Given the description of an element on the screen output the (x, y) to click on. 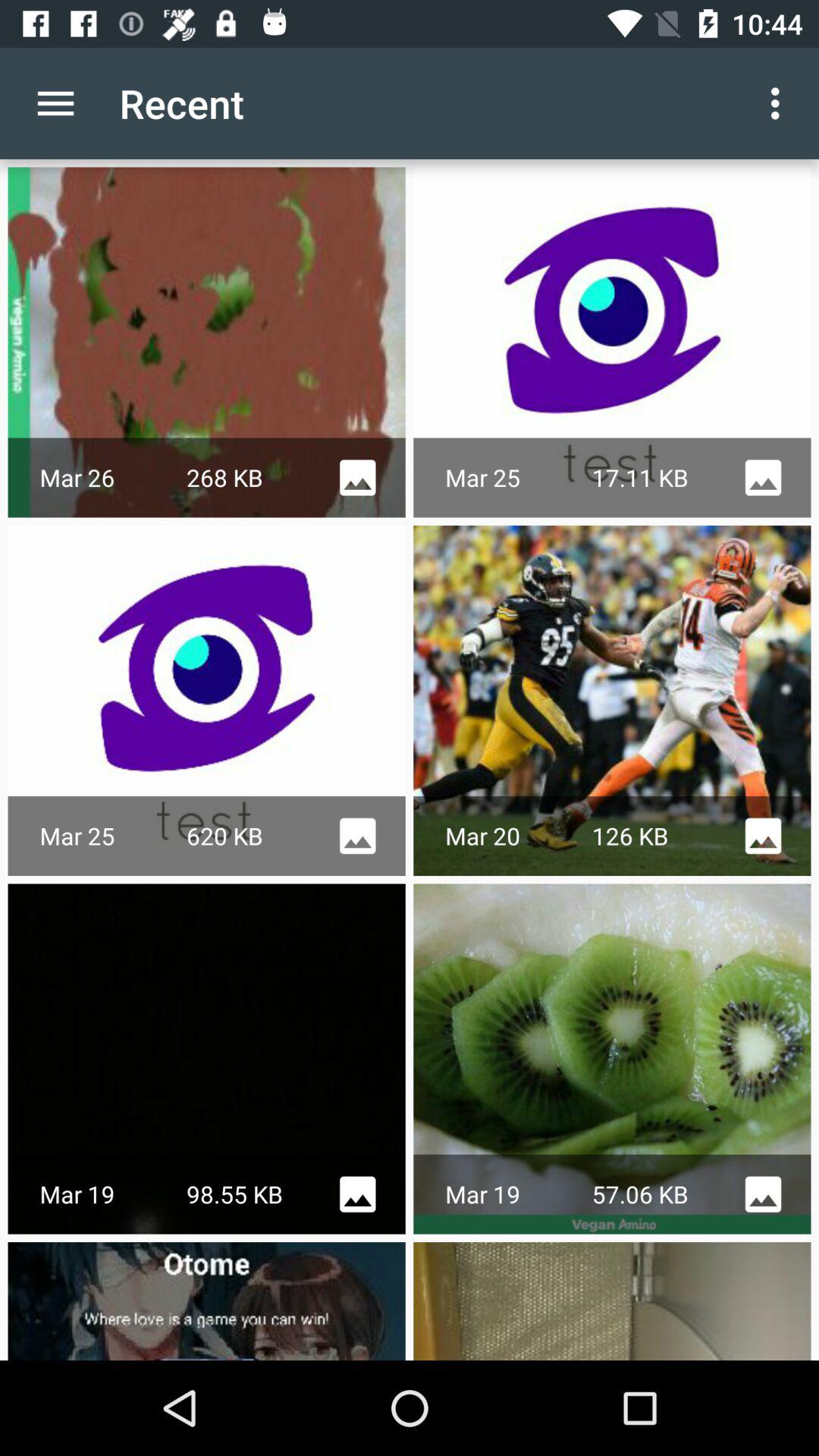
select the last image which is on the right (612, 1300)
click the three dots button on the top right side of the web page (779, 103)
click on the image below recent (206, 342)
click on the image below recent (206, 342)
click on icon below more settings (612, 342)
click on the second image on left (612, 700)
click on the last image on left (206, 1300)
click the second image in third row from left side (612, 1058)
select the image below the text mar 26 on the web page (206, 700)
click on first right image from bottom (612, 1300)
click on the first left image from bottom (206, 1300)
